Given the description of an element on the screen output the (x, y) to click on. 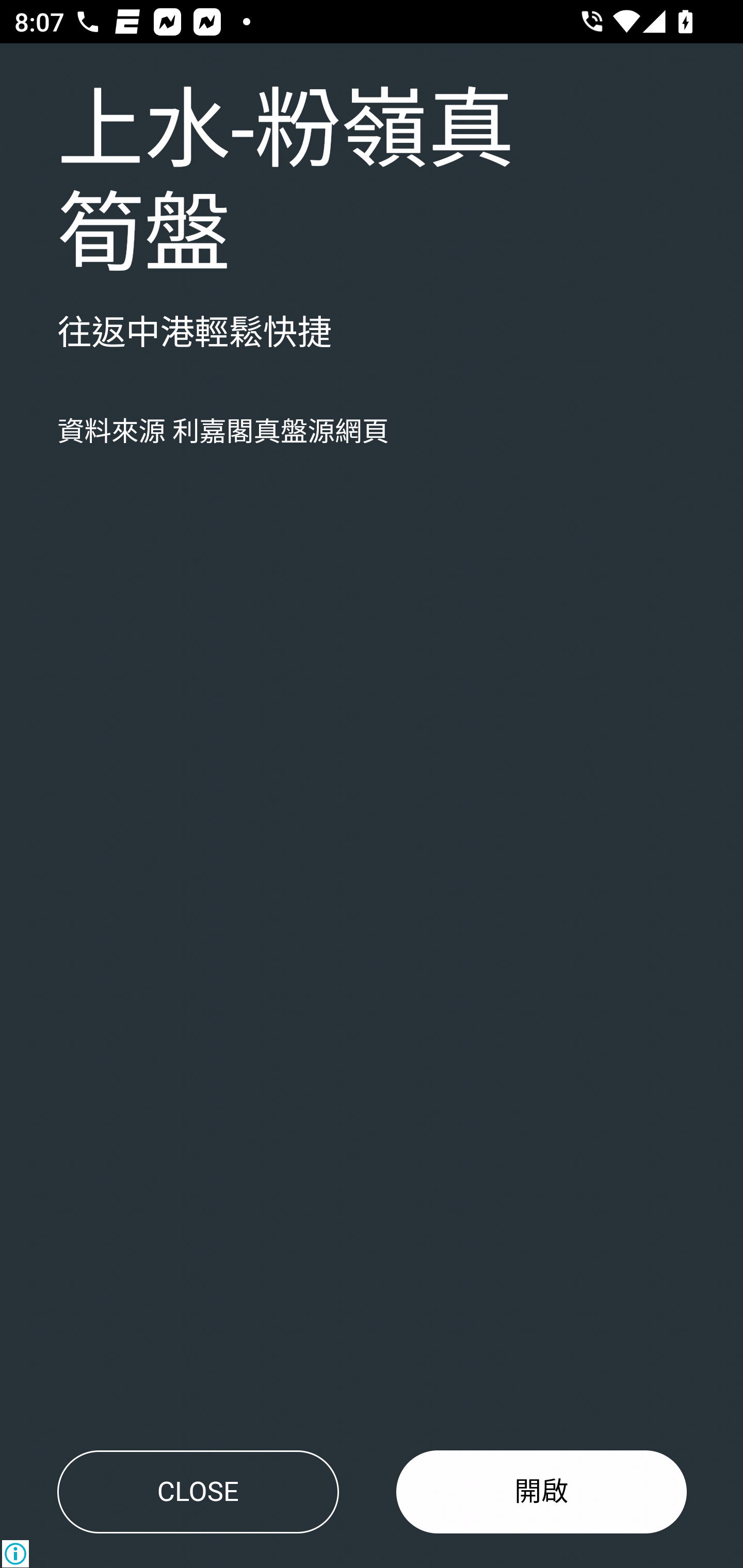
上水-粉嶺真 筍盤 上水-粉嶺真 筍盤 (285, 182)
往返中港輕鬆快捷 (194, 333)
資料來源 利嘉閣真盤源網頁 (222, 432)
CLOSE (197, 1491)
開啟 (541, 1491)
